Given the description of an element on the screen output the (x, y) to click on. 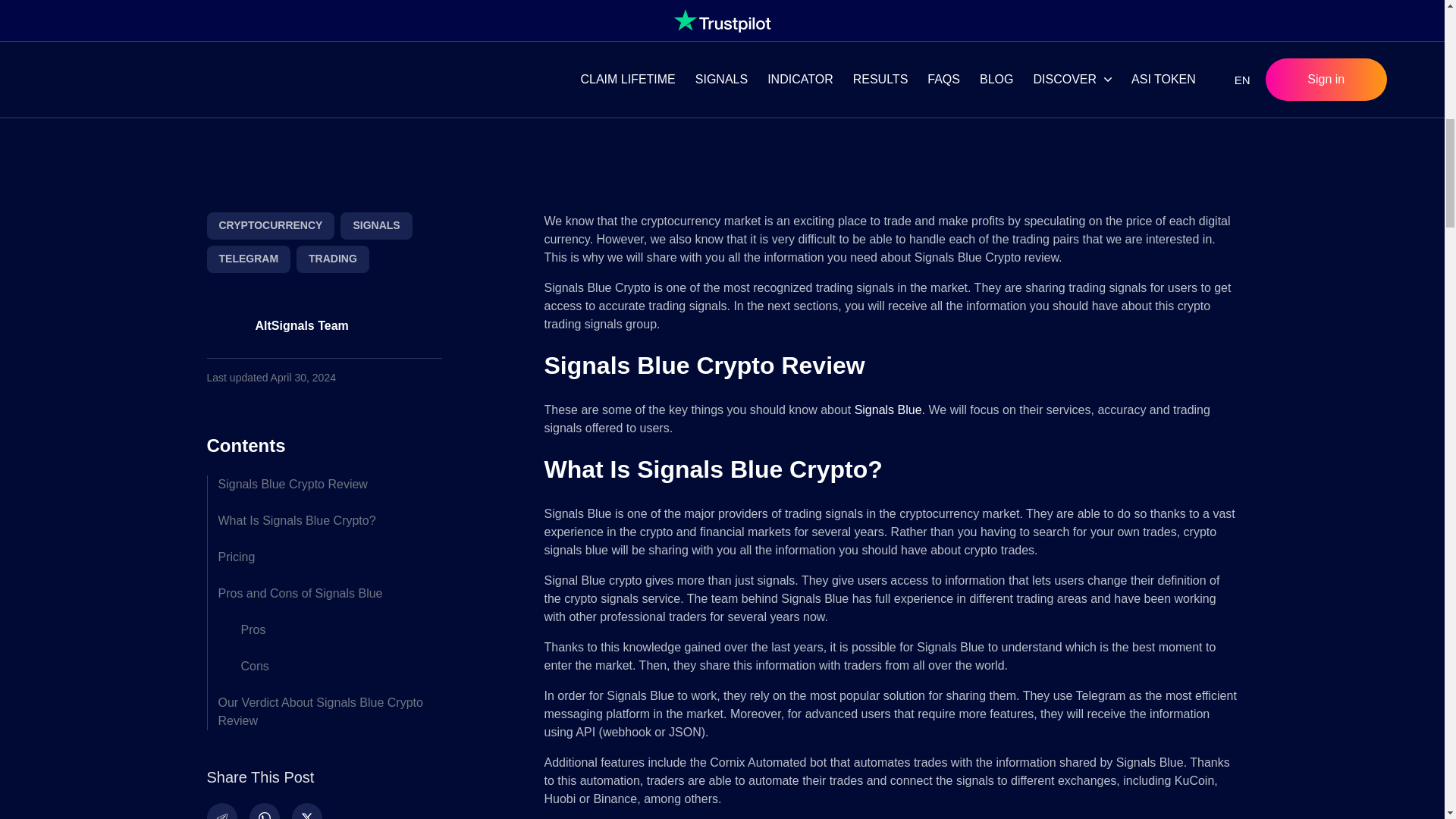
TELEGRAM (247, 258)
TRADING (333, 258)
AltSignals Team (323, 333)
SIGNALS (376, 225)
CRYPTOCURRENCY (270, 225)
